Given the description of an element on the screen output the (x, y) to click on. 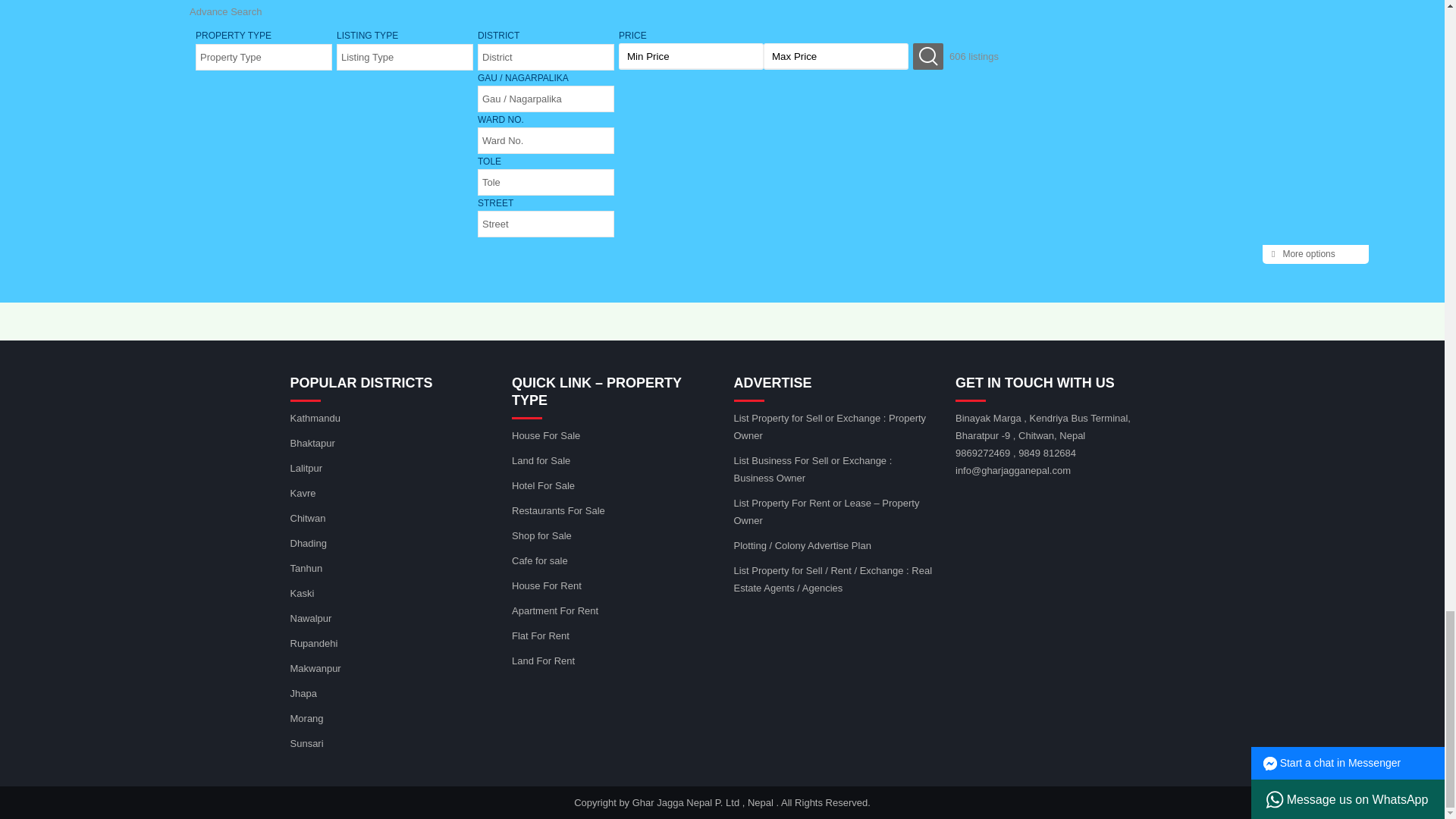
Listing Type (404, 56)
Street  (545, 223)
Tole (545, 182)
District (545, 56)
Property Type (263, 56)
Ward No. (545, 140)
Search (927, 56)
Search (927, 56)
